Given the description of an element on the screen output the (x, y) to click on. 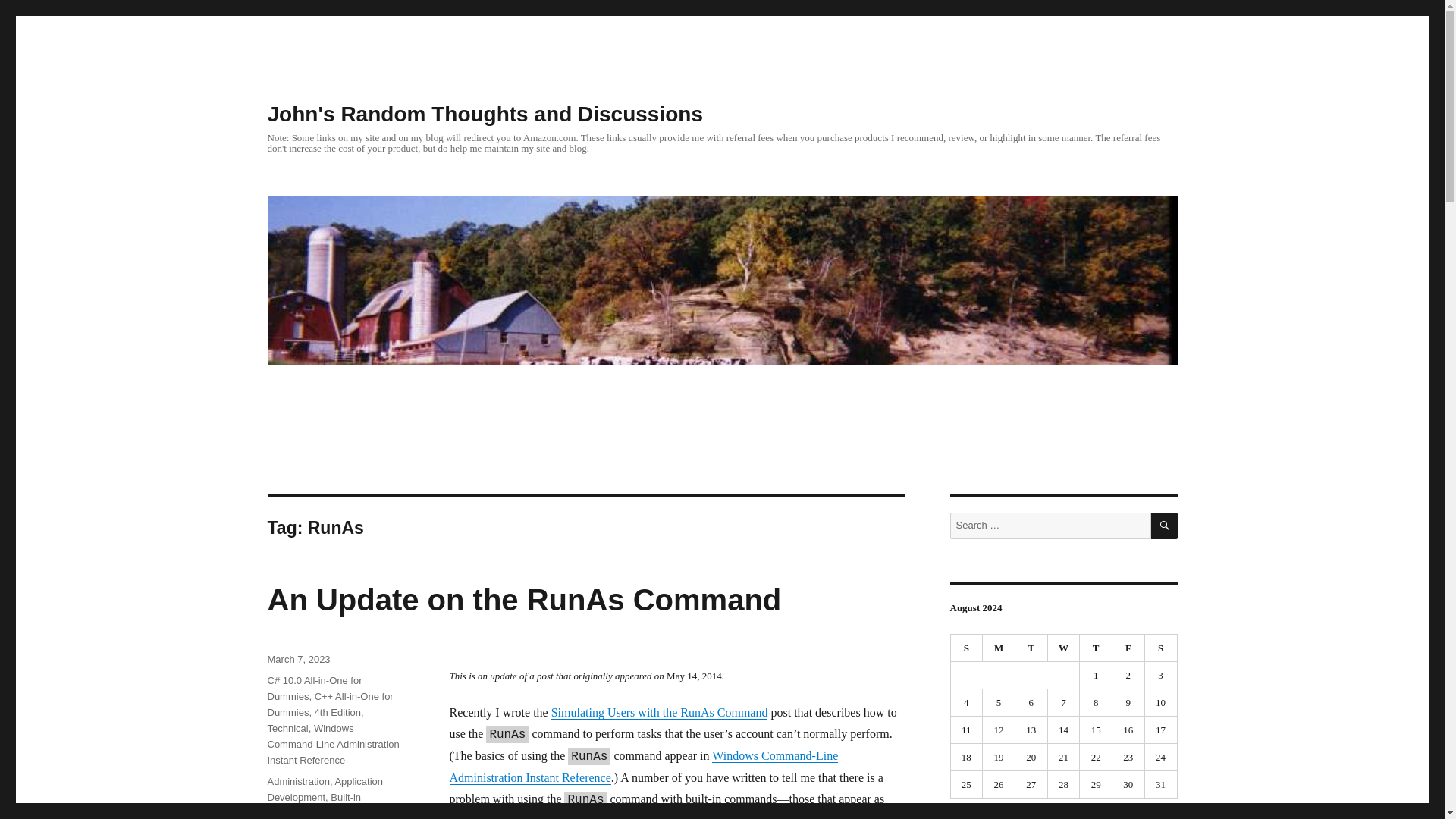
Saturday (1160, 647)
Windows Command-Line Administration Instant Reference (332, 743)
Thursday (1096, 647)
Simulating Users with the RunAs Command (659, 712)
Wednesday (1064, 647)
Friday (1128, 647)
Tuesday (1031, 647)
Built-in Commands (313, 805)
Application Development (324, 789)
Command Line (356, 813)
